Given the description of an element on the screen output the (x, y) to click on. 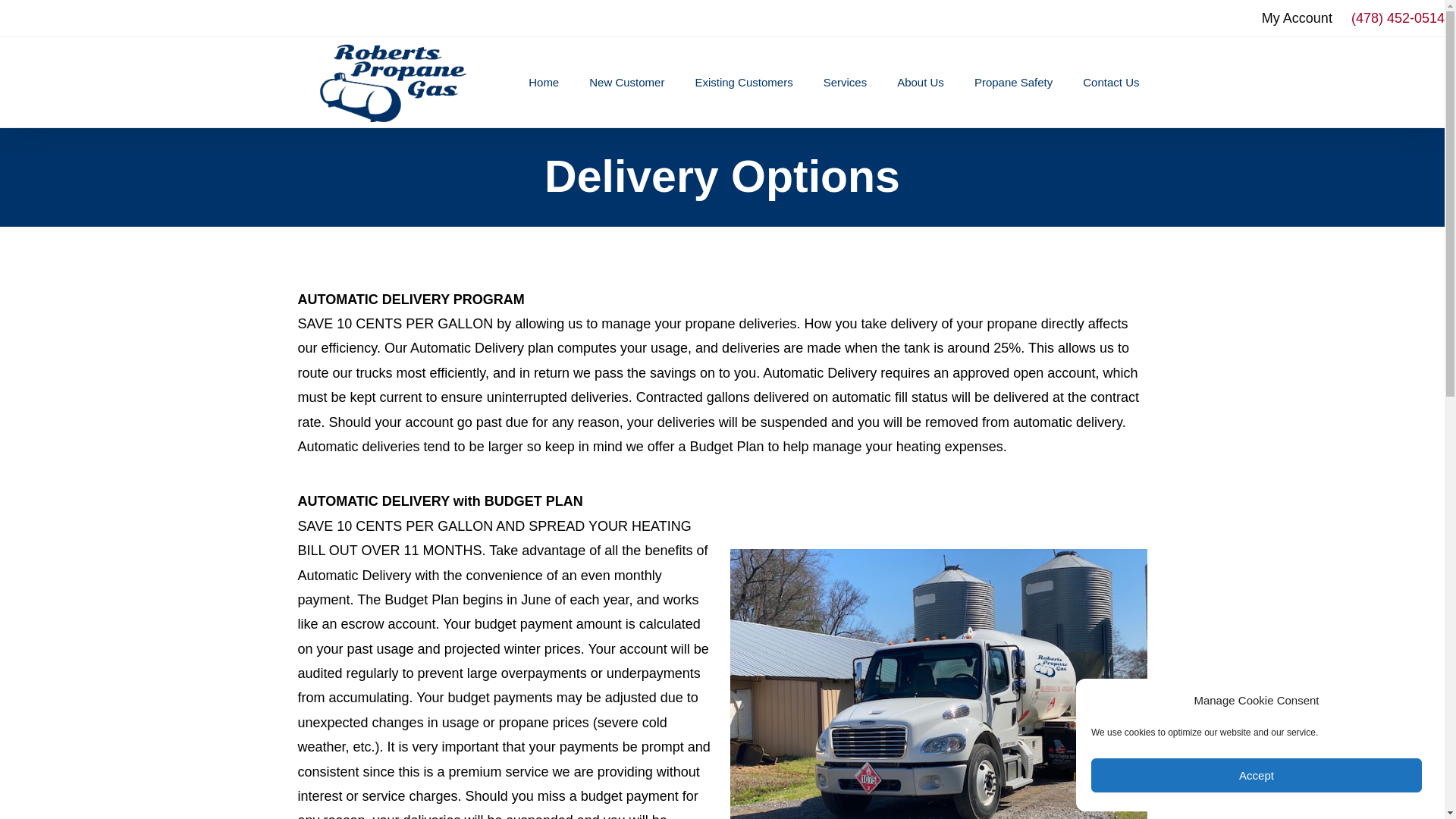
Home (543, 82)
Existing Customers (743, 82)
New Customer (626, 82)
Propane Safety (1013, 82)
My Account (1297, 17)
Services (845, 82)
Contact Us (1110, 82)
About Us (920, 82)
Accept (1256, 775)
